Given the description of an element on the screen output the (x, y) to click on. 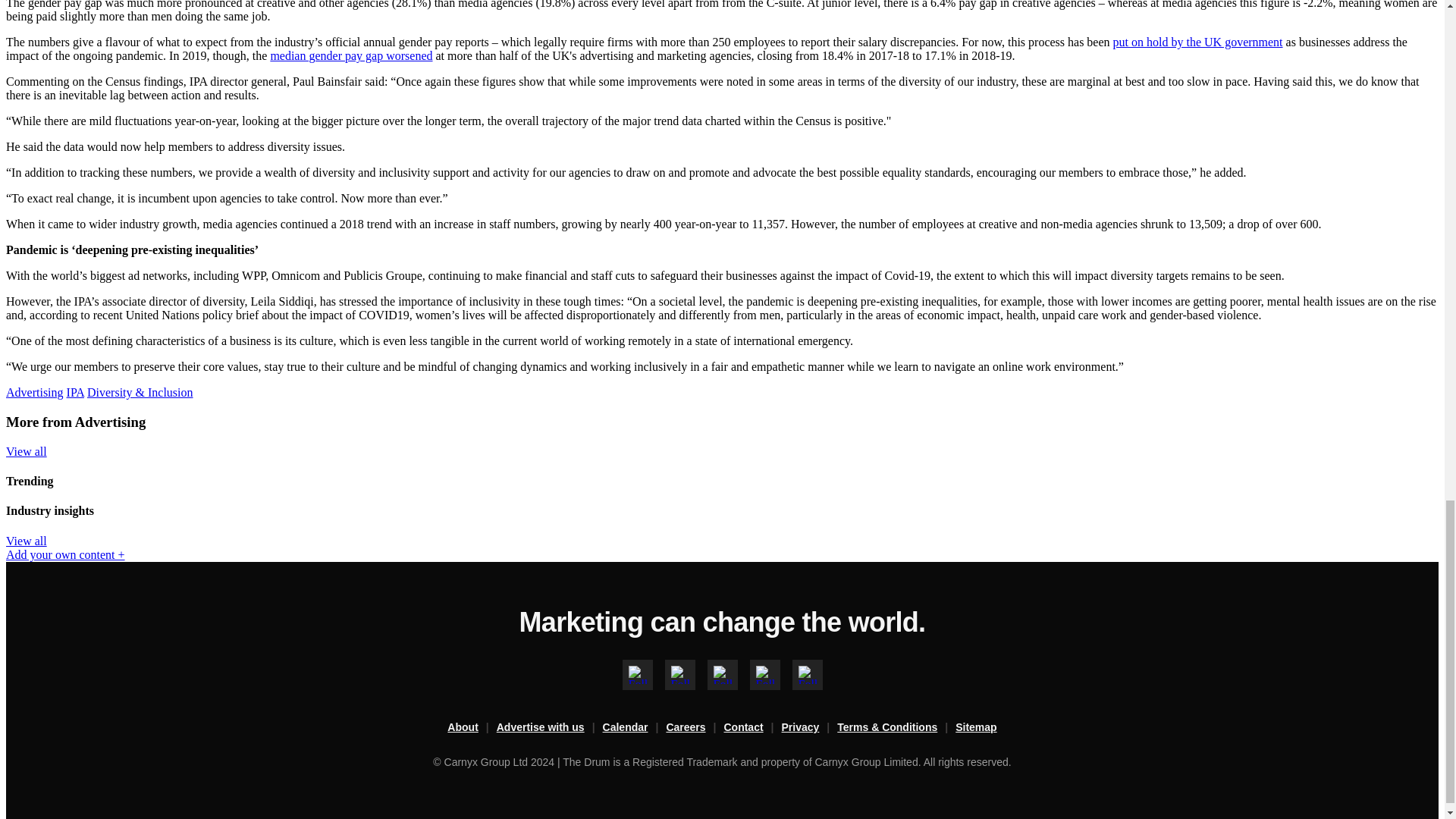
About (471, 728)
median gender pay gap worsened (350, 55)
Advertising (34, 391)
View all (25, 451)
put on hold by the UK government (1197, 42)
Careers (694, 728)
IPA (75, 391)
Calendar (634, 728)
View all (25, 540)
Advertise with us (549, 728)
